Given the description of an element on the screen output the (x, y) to click on. 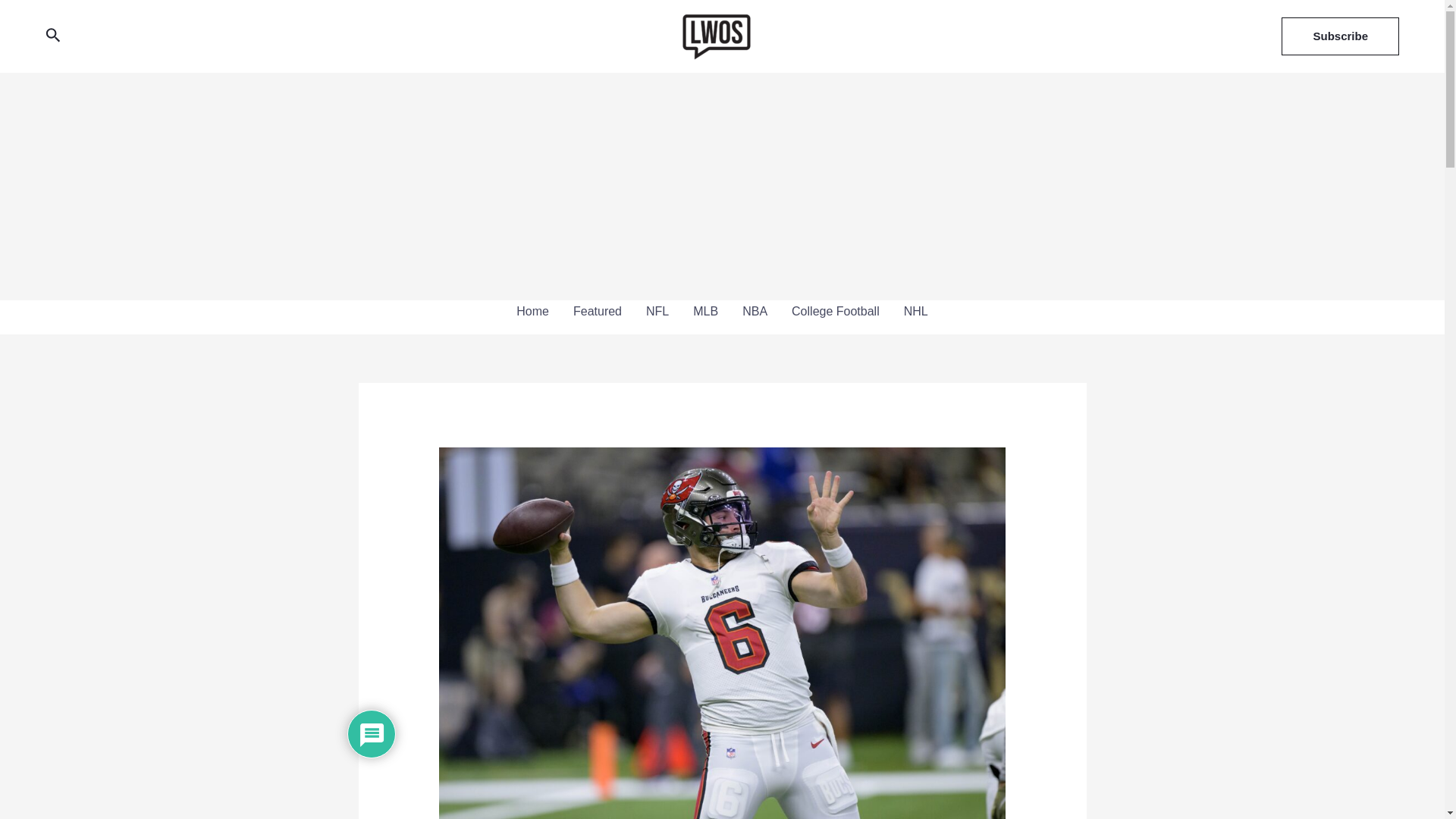
MLB (705, 311)
Subscribe (1340, 36)
NFL (657, 311)
NHL (915, 311)
Home (531, 311)
College Football (834, 311)
Featured (596, 311)
NBA (754, 311)
